Given the description of an element on the screen output the (x, y) to click on. 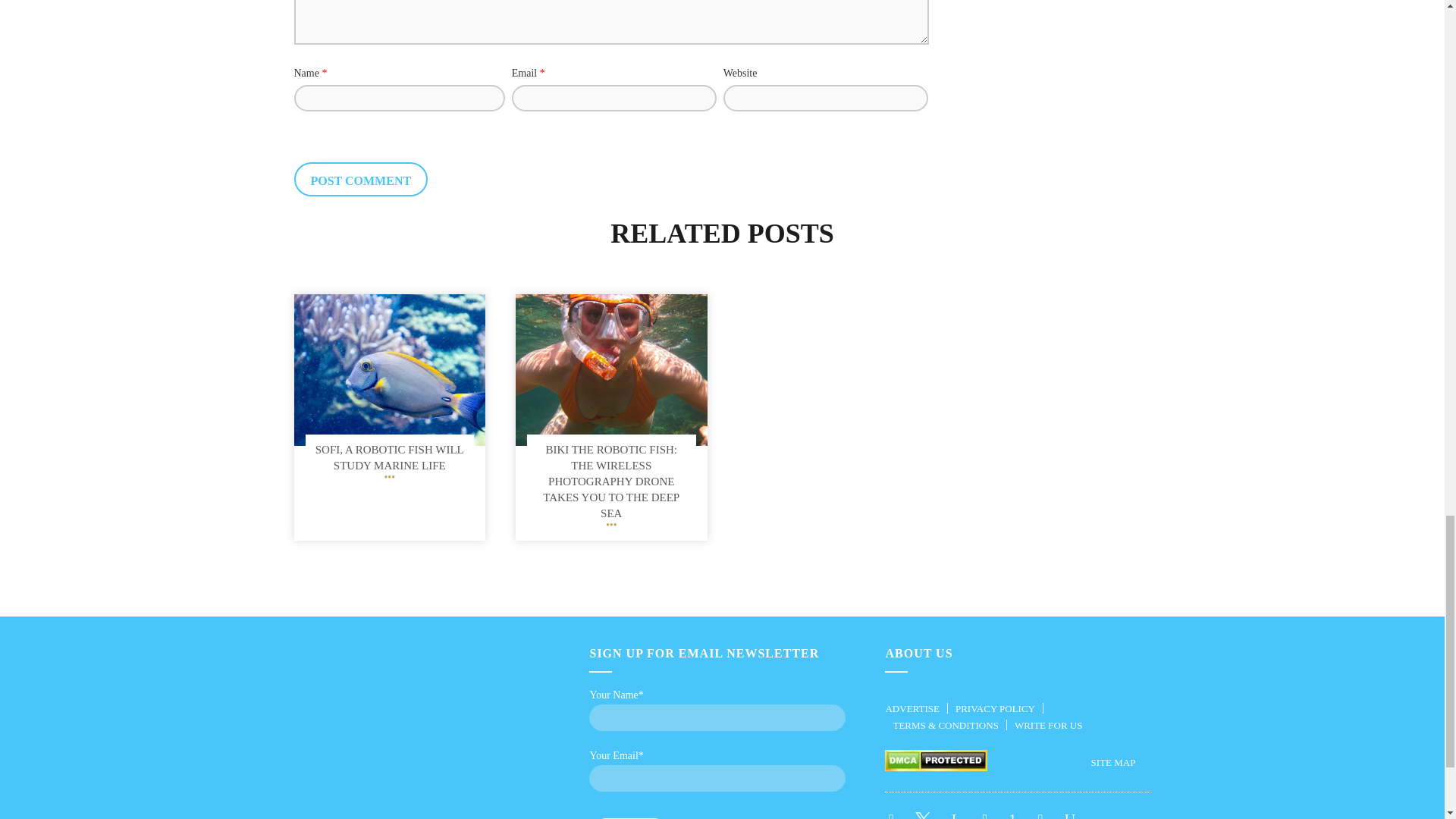
Post Comment (361, 179)
